Given the description of an element on the screen output the (x, y) to click on. 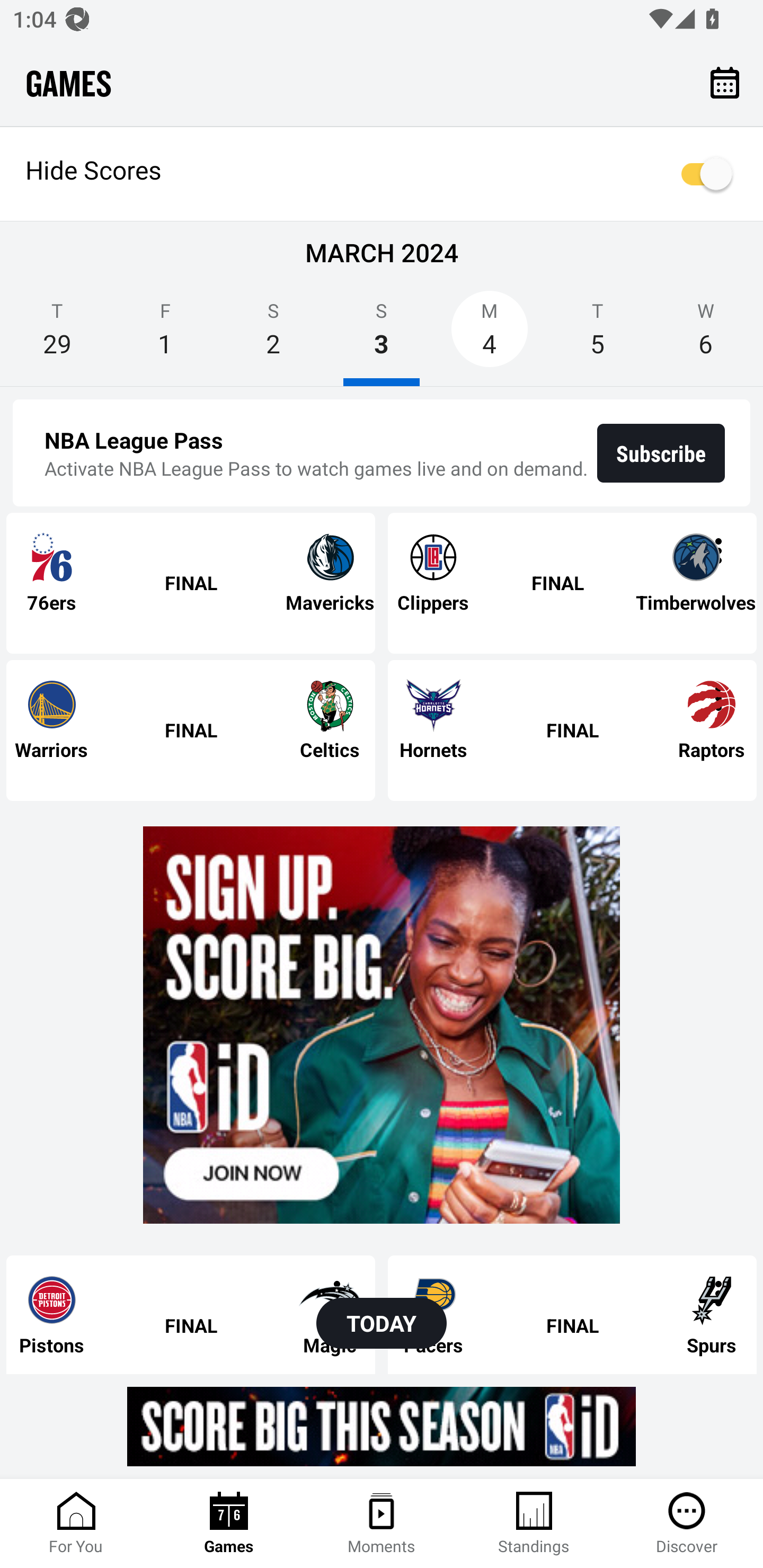
Calendar (724, 81)
Hide Scores (381, 174)
T 29 (57, 334)
F 1 (165, 334)
S 2 (273, 334)
S 3 (381, 334)
M 4 (489, 334)
T 5 (597, 334)
W 6 (705, 334)
Subscribe (660, 452)
Post Game - Pistons at Magic Pistons FINAL Magic (190, 1314)
Post Game - Pacers at Spurs Pacers FINAL Spurs (571, 1314)
TODAY (381, 1323)
For You (76, 1523)
Moments (381, 1523)
Standings (533, 1523)
Discover (686, 1523)
